Given the description of an element on the screen output the (x, y) to click on. 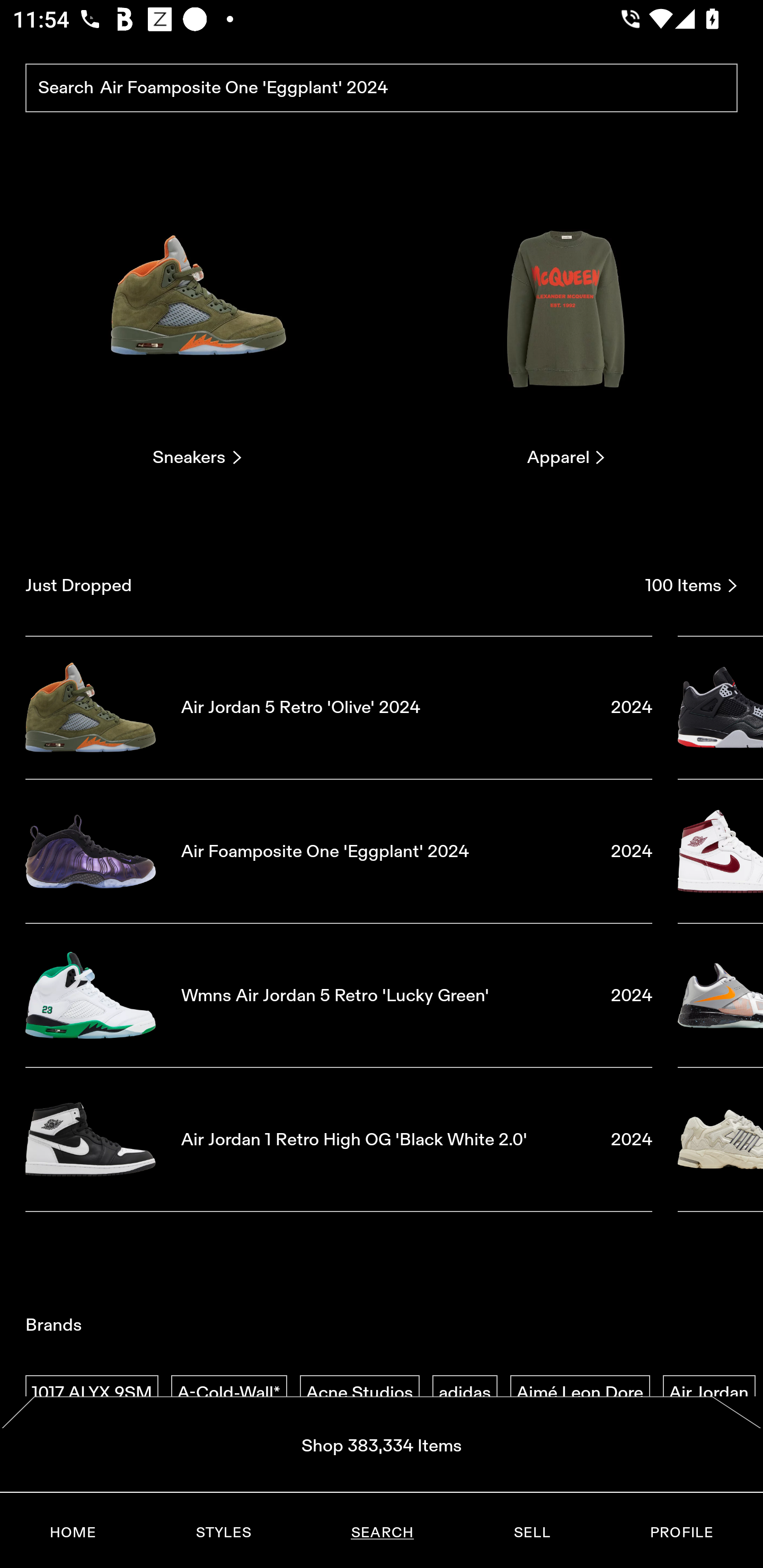
Search (381, 88)
Sneakers (196, 323)
Apparel (565, 323)
Just Dropped (328, 585)
100 Items (691, 585)
Air Jordan 5 Retro 'Olive' 2024 2024 (338, 707)
Air Foamposite One 'Eggplant' 2024 2024 (338, 851)
Wmns Air Jordan 5 Retro 'Lucky Green' 2024 (338, 995)
Air Jordan 1 Retro High OG 'Black White 2.0' 2024 (338, 1139)
1017 ALYX 9SM (91, 1393)
A-Cold-Wall* (228, 1393)
Acne Studios (359, 1393)
adidas (464, 1393)
Aimé Leon Dore (580, 1393)
Air Jordan (709, 1393)
PROFILE (681, 1532)
Price (530, 1526)
Comme des Garçons SHIRT (380, 1538)
